Given the description of an element on the screen output the (x, y) to click on. 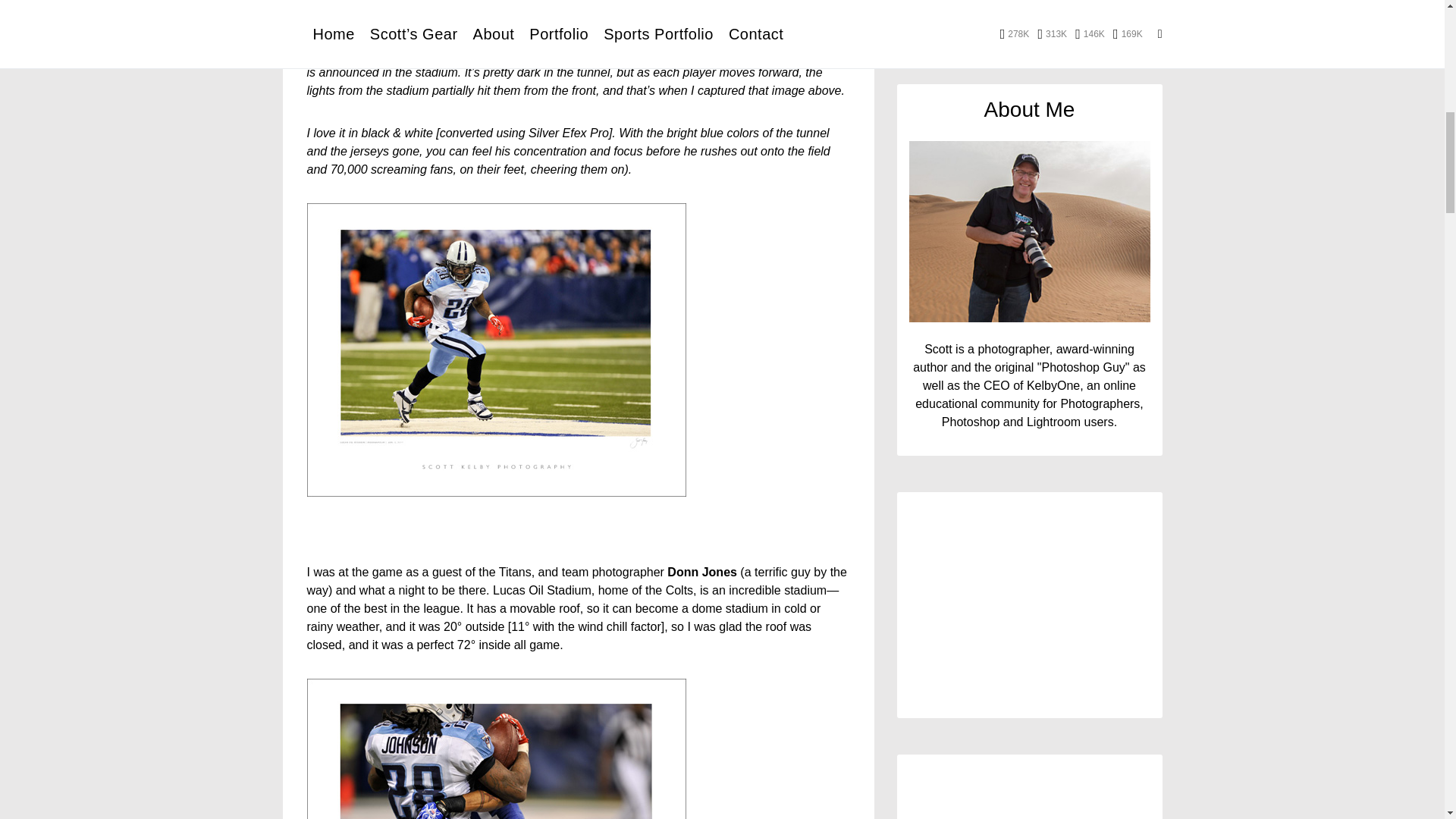
ColtTitans3sm (495, 748)
3rd party ad content (1028, 275)
ColtTitans1sm (495, 349)
